Given the description of an element on the screen output the (x, y) to click on. 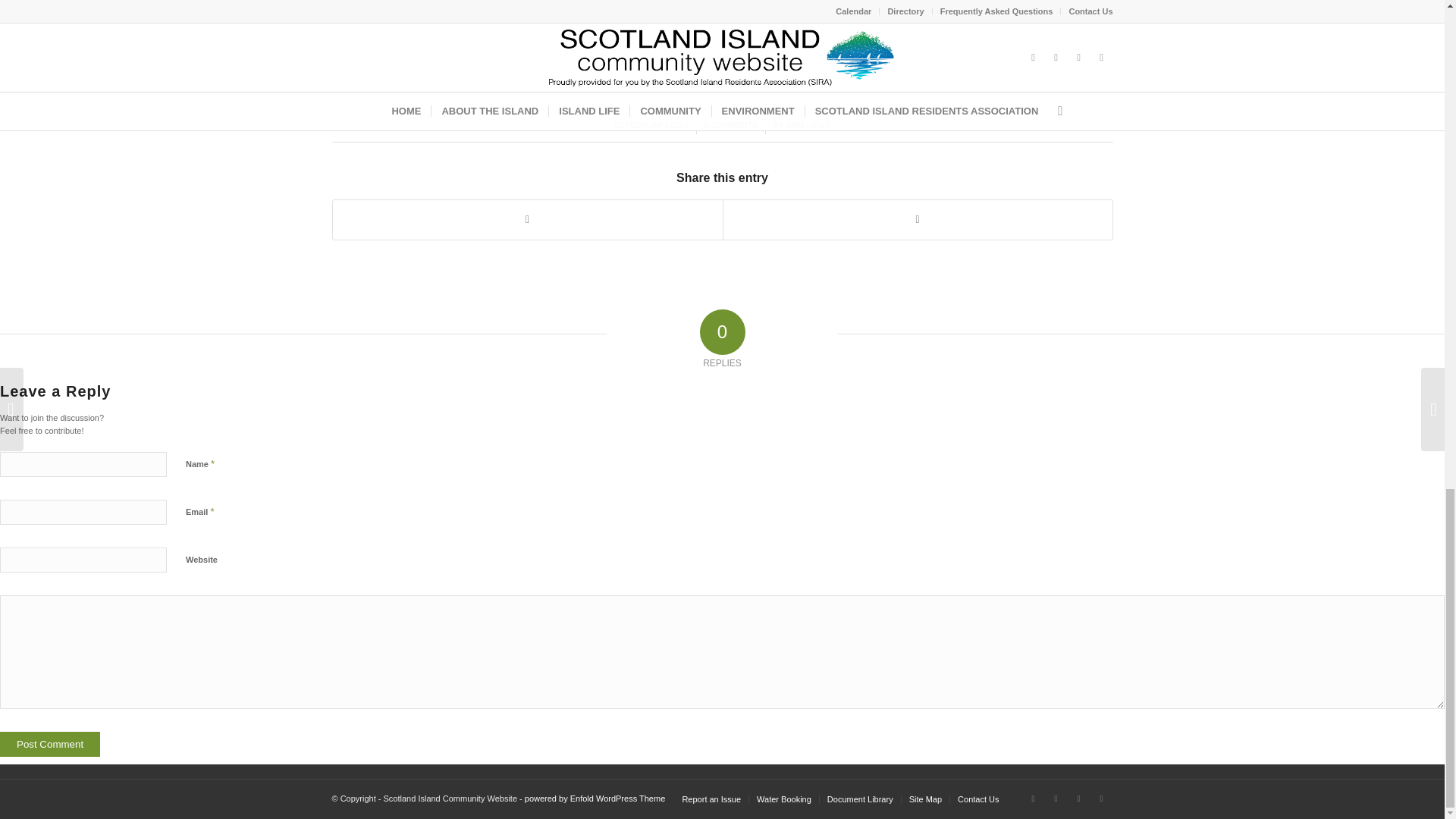
Posts by SIRA News (807, 124)
Post Comment (50, 744)
Facebook (1056, 798)
Youtube (1078, 798)
Facebook (1033, 798)
